Given the description of an element on the screen output the (x, y) to click on. 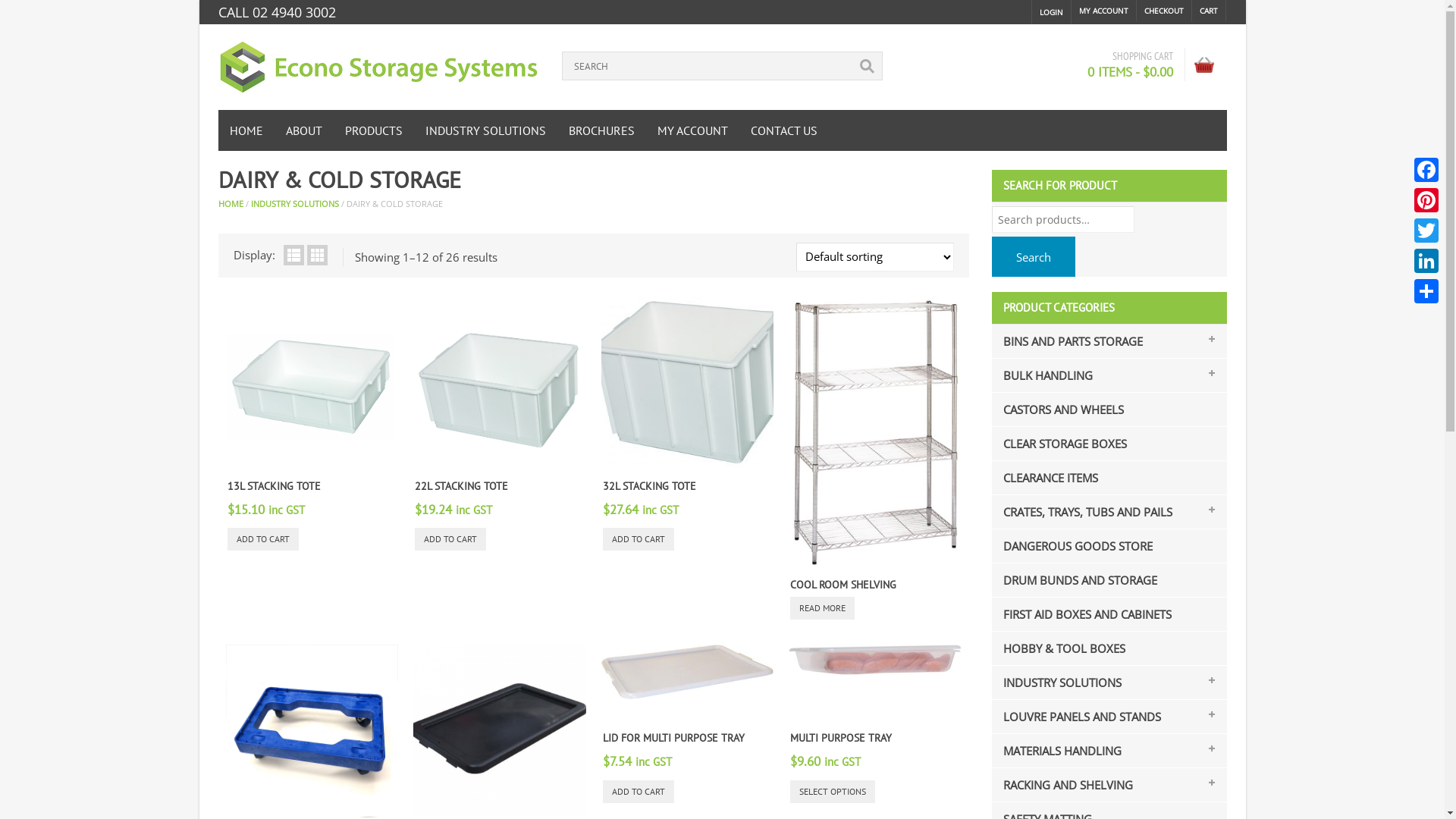
DANGEROUS GOODS STORE Element type: text (1072, 545)
BINS AND PARTS STORAGE Element type: text (1067, 340)
RACKING AND SHELVING Element type: text (1062, 784)
Facebook Element type: text (1426, 169)
SELECT OPTIONS Element type: text (832, 790)
Econo Storage Systems - The Comprehensive Storage Company Element type: hover (378, 66)
INDUSTRY SOLUTIONS Element type: text (1057, 682)
Share Element type: text (1426, 291)
ADD TO CART Element type: text (450, 538)
FIRST AID BOXES AND CABINETS Element type: text (1082, 613)
Twitter Element type: text (1426, 230)
LinkedIn Element type: text (1426, 260)
LOUVRE PANELS AND STANDS Element type: text (1076, 716)
MY ACCOUNT Element type: text (1103, 10)
13L STACKING TOTE Element type: text (273, 485)
Grid Element type: hover (316, 254)
BULK HANDLING Element type: text (1042, 375)
DRUM BUNDS AND STORAGE Element type: text (1074, 579)
Pinterest Element type: text (1426, 200)
INDUSTRY SOLUTIONS Element type: text (485, 129)
INDUSTRY SOLUTIONS Element type: text (294, 203)
ABOUT Element type: text (303, 129)
MULTI PURPOSE TRAY Element type: text (840, 737)
ADD TO CART Element type: text (262, 538)
ADD TO CART Element type: text (638, 790)
PRODUCTS Element type: text (373, 129)
MATERIALS HANDLING Element type: text (1057, 750)
HOBBY & TOOL BOXES Element type: text (1058, 648)
READ MORE Element type: text (822, 607)
CRATES, TRAYS, TUBS AND PAILS Element type: text (1082, 511)
MY ACCOUNT Element type: text (692, 129)
Search Element type: text (1033, 256)
COOL ROOM SHELVING Element type: text (843, 584)
CHECKOUT Element type: text (1164, 10)
CASTORS AND WHEELS Element type: text (1058, 409)
ADD TO CART Element type: text (638, 538)
32L STACKING TOTE Element type: text (649, 485)
LID FOR MULTI PURPOSE TRAY Element type: text (673, 737)
CLEARANCE ITEMS Element type: text (1045, 477)
CART Element type: text (1209, 10)
HOME Element type: text (230, 203)
22L STACKING TOTE Element type: text (461, 485)
CONTACT US Element type: text (783, 129)
HOME Element type: text (246, 129)
LOGIN Element type: text (1051, 11)
List Element type: hover (293, 254)
BROCHURES Element type: text (600, 129)
CLEAR STORAGE BOXES Element type: text (1059, 443)
